Given the description of an element on the screen output the (x, y) to click on. 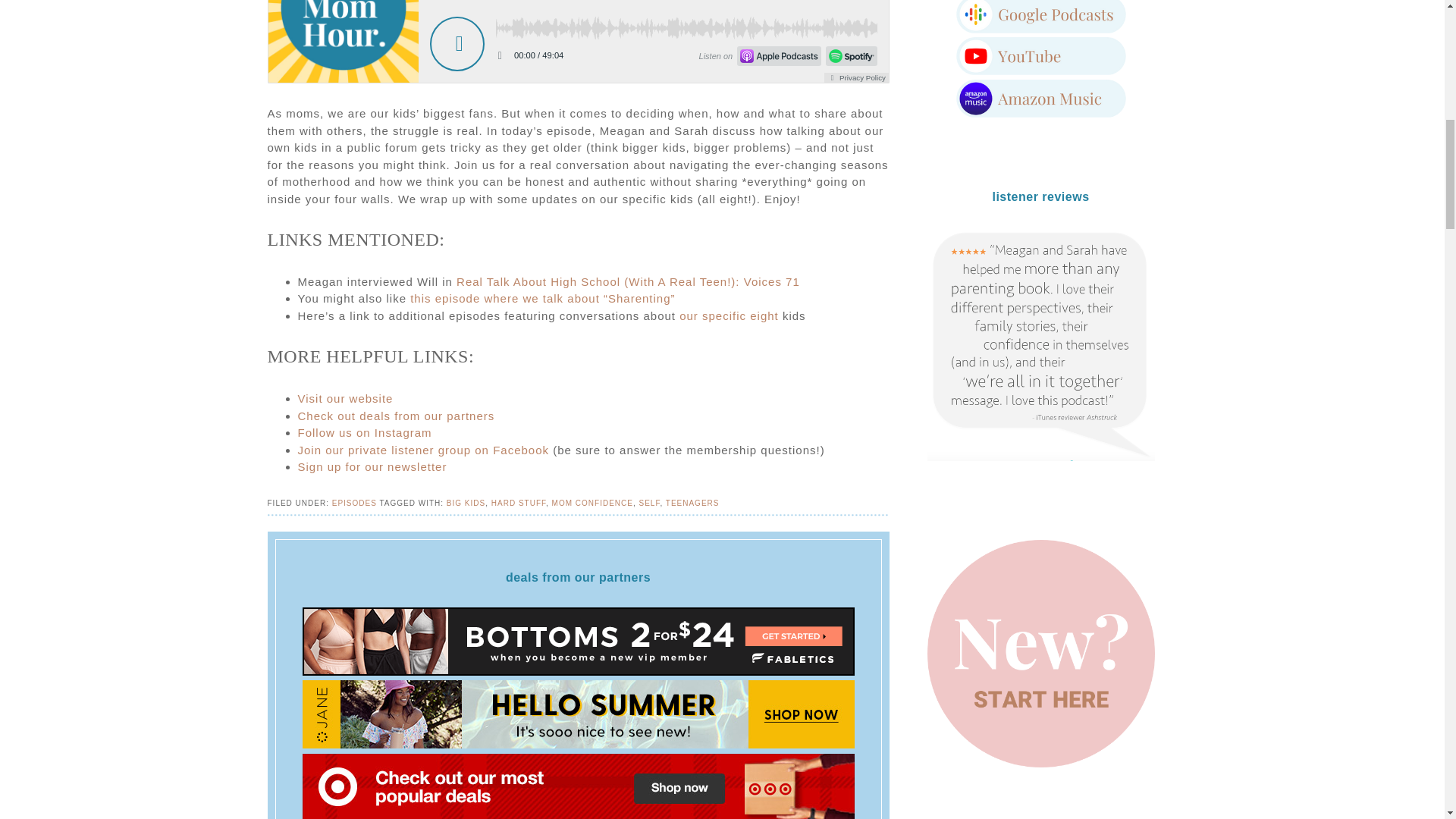
Join our private listener group on Facebook (422, 449)
our specific eight (728, 315)
Visit our website (345, 398)
Sign up for our newsletter (371, 466)
Follow us on Instagram (363, 431)
Check out deals from our partners (396, 415)
